Given the description of an element on the screen output the (x, y) to click on. 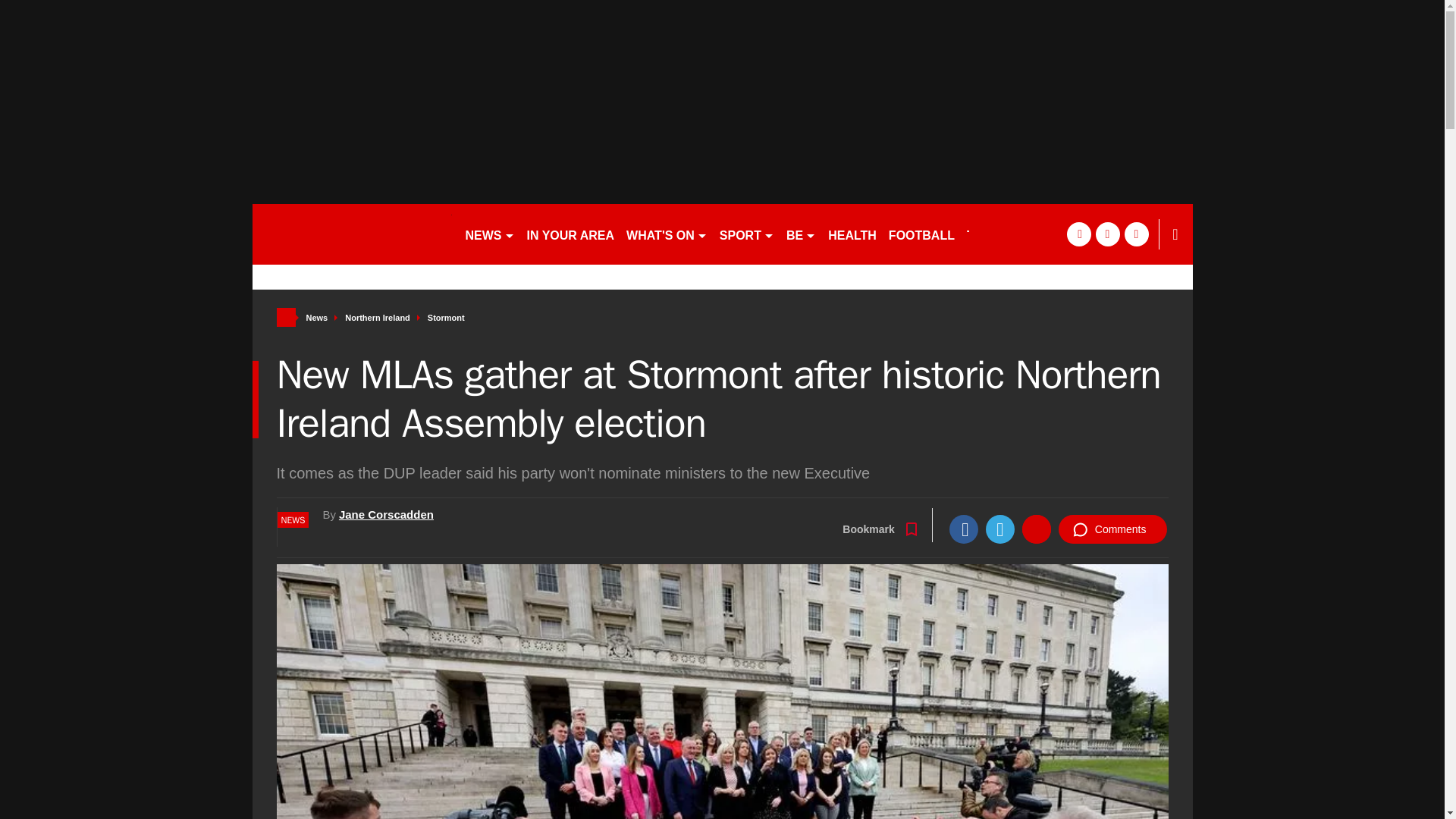
belfastlive (351, 233)
instagram (1136, 233)
SPORT (746, 233)
Comments (1112, 529)
Twitter (999, 529)
twitter (1106, 233)
IN YOUR AREA (569, 233)
WHAT'S ON (666, 233)
facebook (1077, 233)
NEWS (490, 233)
